Given the description of an element on the screen output the (x, y) to click on. 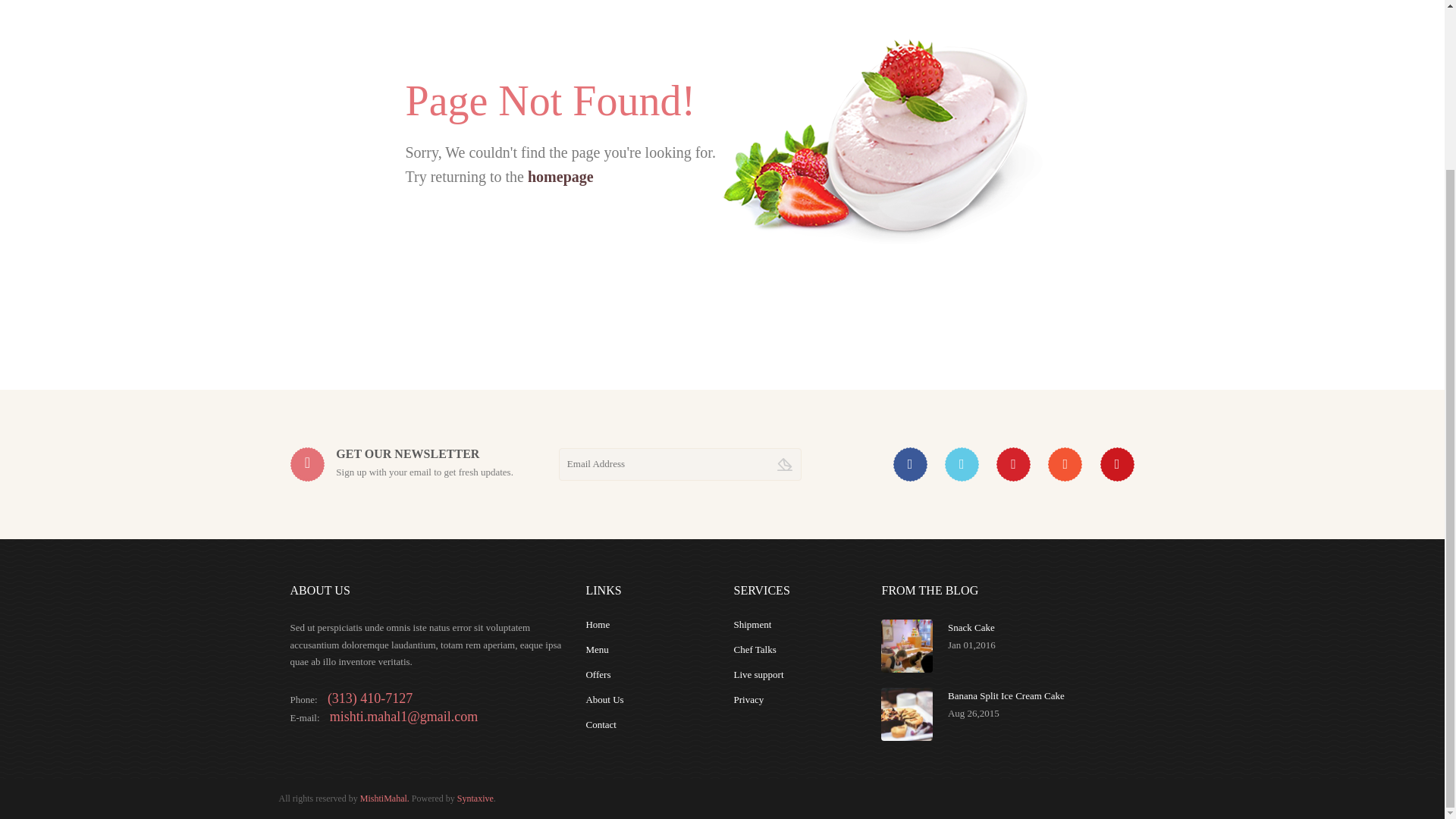
Menu (596, 649)
Shipment (752, 624)
Syntaxive (475, 798)
Live support (758, 674)
Privacy (747, 699)
Home (597, 624)
MishtiMahal. (384, 798)
Chef Talks (754, 649)
Contact (600, 724)
Snack Cake (970, 627)
Offers (597, 674)
About Us (604, 699)
Banana Split Ice Cream Cake (1005, 695)
homepage (560, 176)
